Given the description of an element on the screen output the (x, y) to click on. 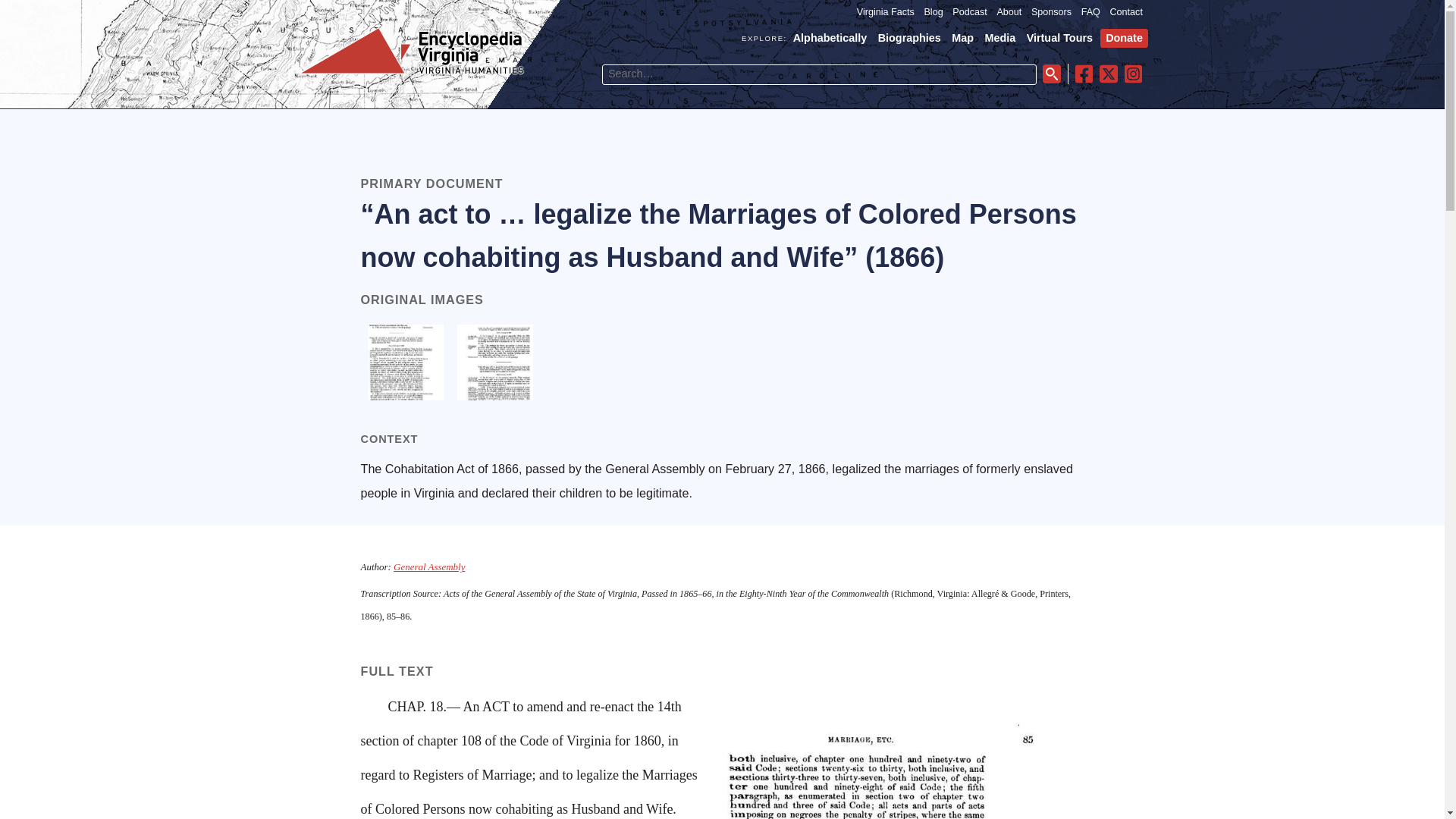
About (1008, 11)
Sponsors (1050, 11)
Podcast (969, 11)
Donate (1124, 37)
Map (963, 38)
Alphabetically (830, 38)
Blog (932, 11)
Virginia Facts (885, 11)
Contact (1125, 11)
FAQ (1090, 11)
Biographies (908, 38)
Virtual Tours (1059, 38)
Encyclopedia Virginia, Virginia Humanities (411, 51)
Encyclopedia Virginia, Virginia Humanities (411, 72)
General Assembly (428, 566)
